Given the description of an element on the screen output the (x, y) to click on. 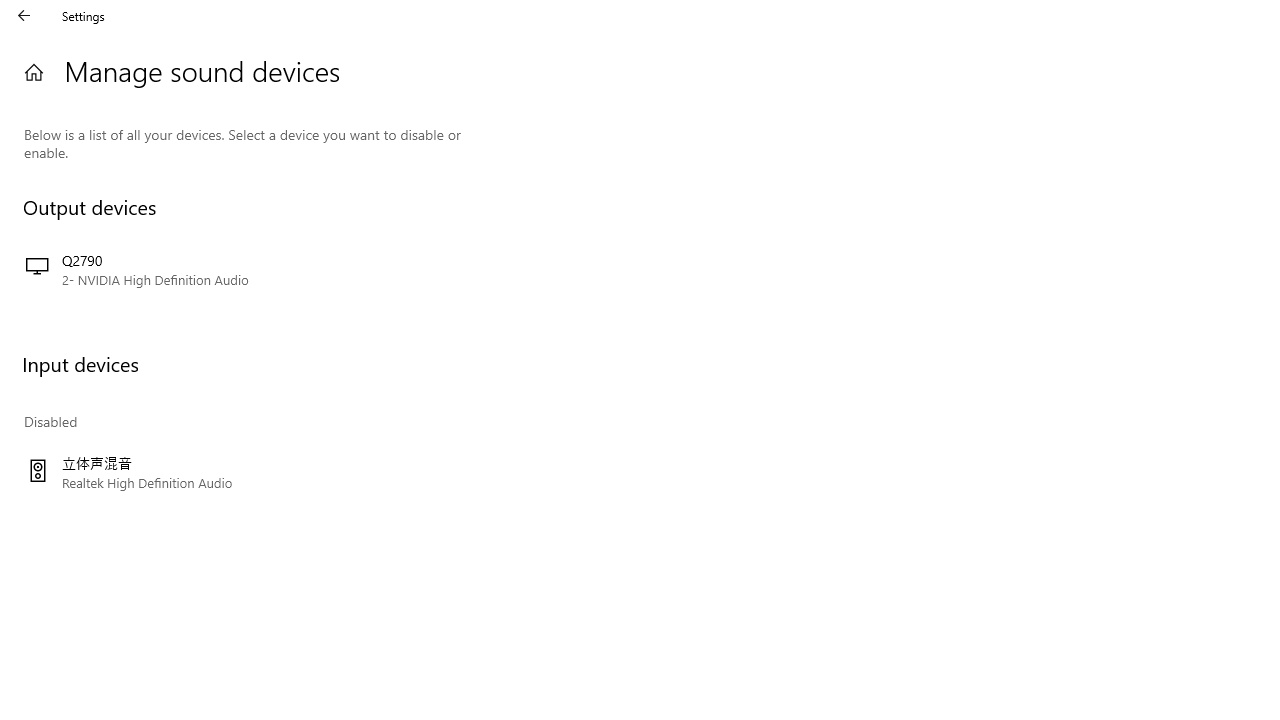
Q2790 2- NVIDIA High Definition Audio (243, 269)
